Given the description of an element on the screen output the (x, y) to click on. 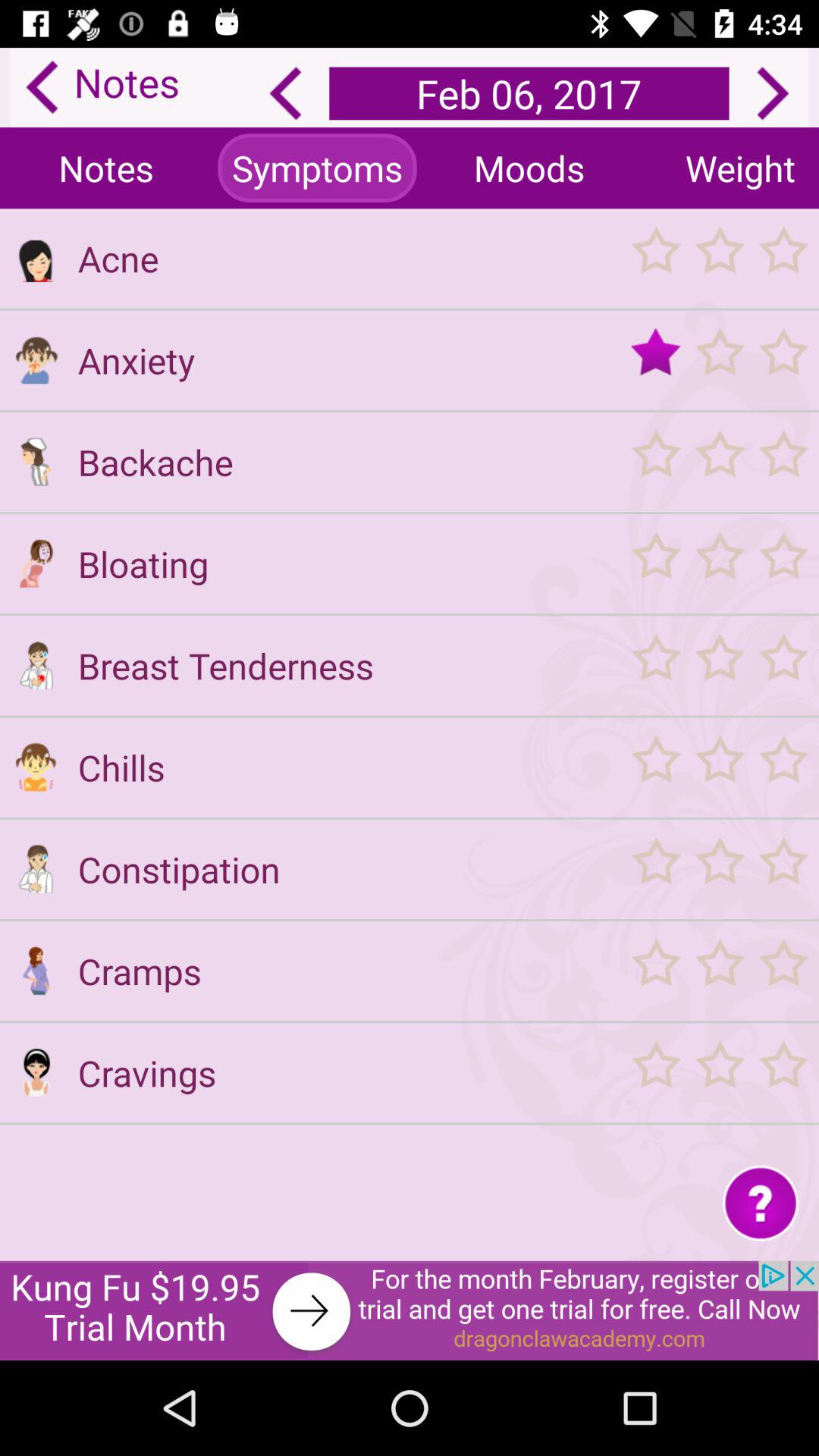
profile icon (35, 868)
